Given the description of an element on the screen output the (x, y) to click on. 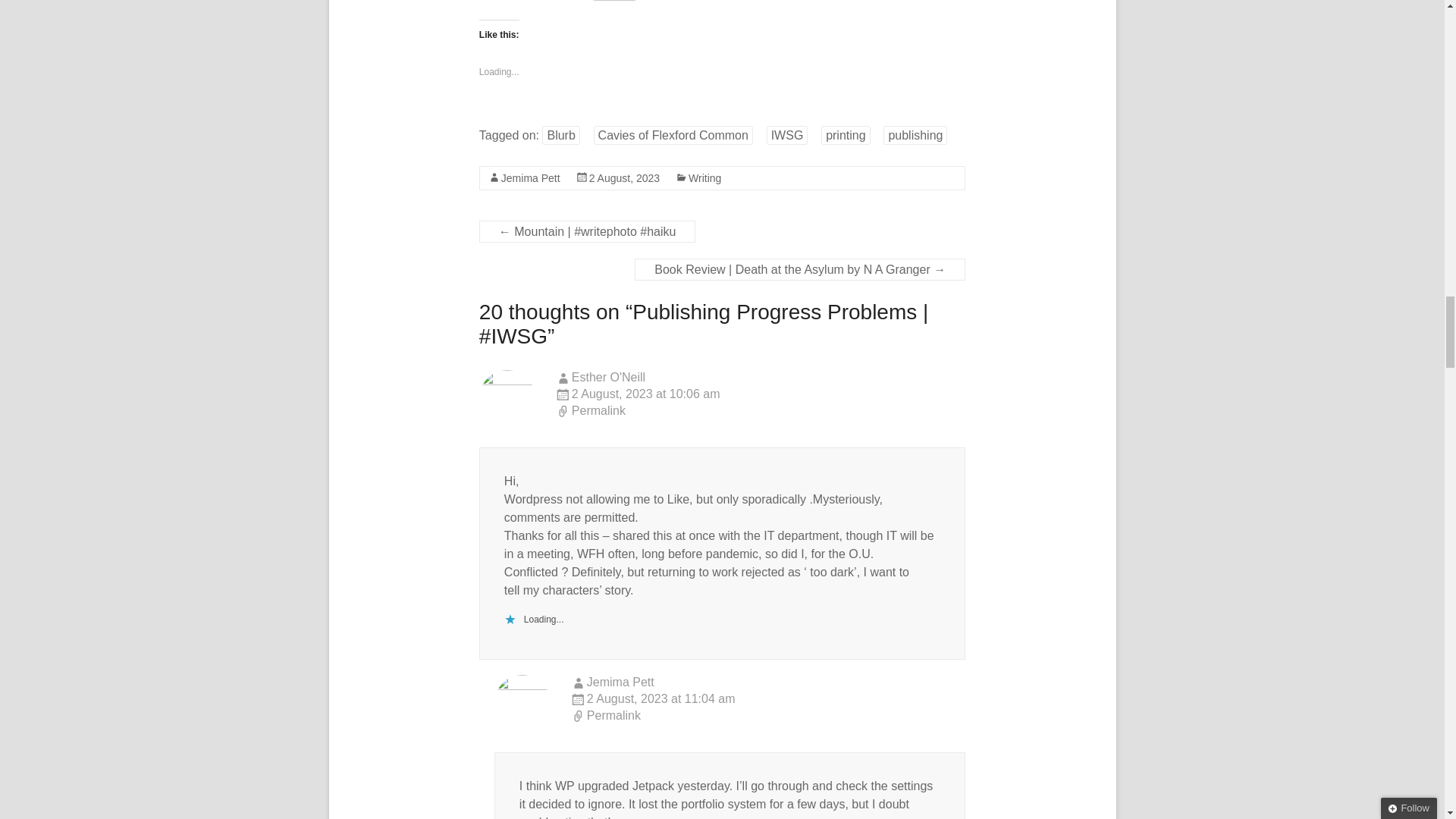
6:35 am (624, 177)
